Given the description of an element on the screen output the (x, y) to click on. 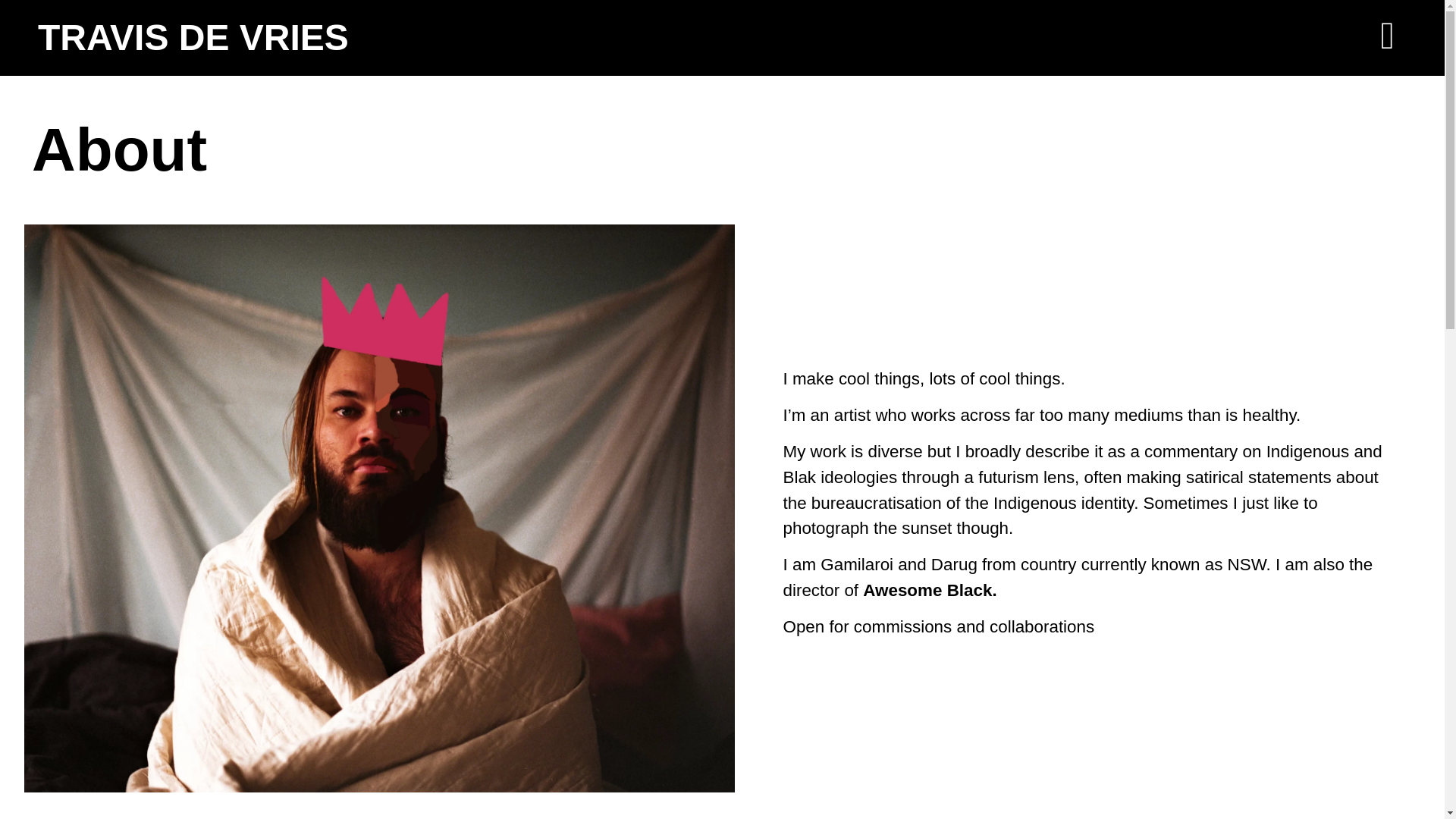
Awesome Black (927, 589)
TRAVIS DE VRIES (193, 37)
